Given the description of an element on the screen output the (x, y) to click on. 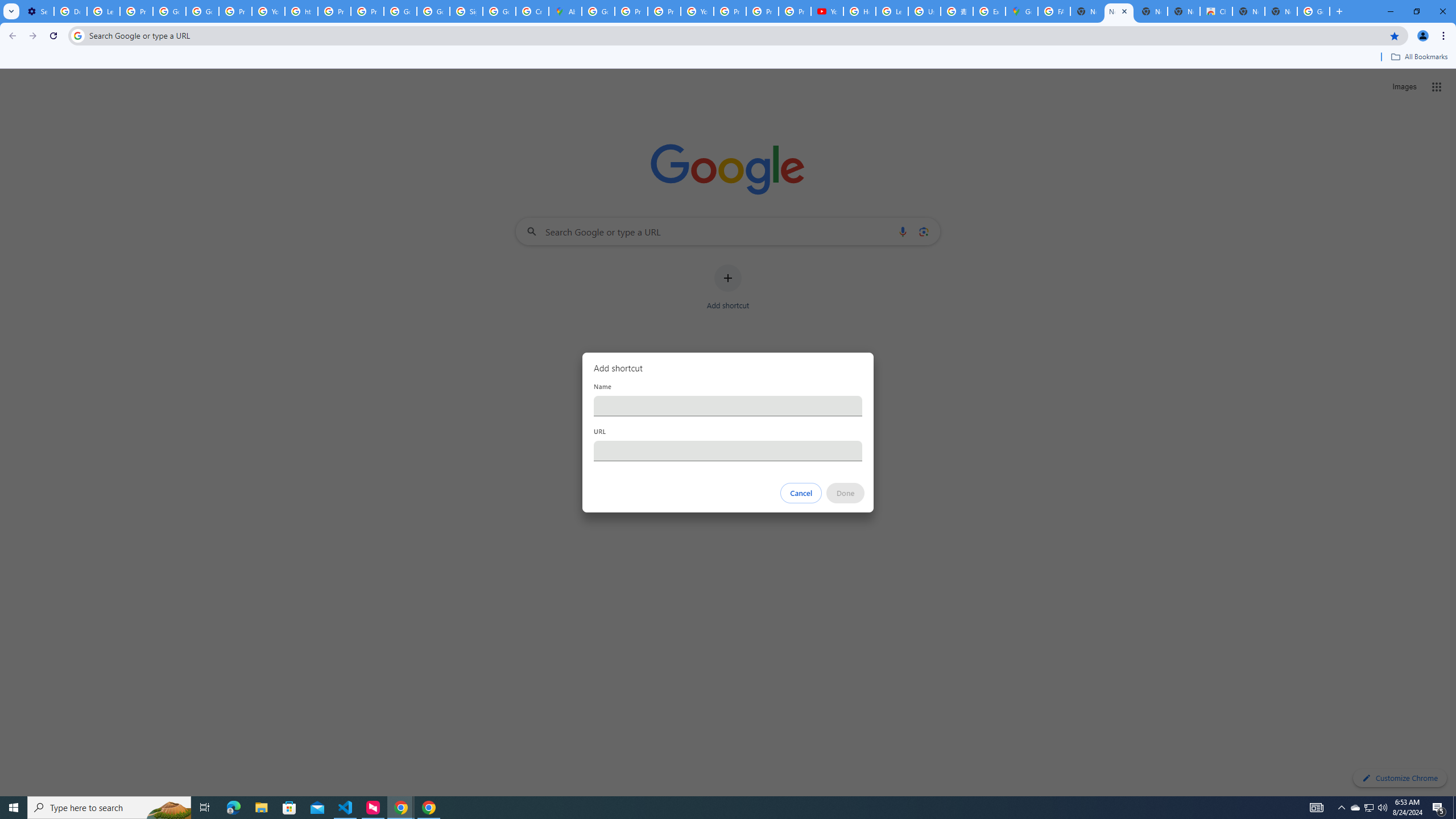
Privacy Help Center - Policies Help (334, 11)
How Chrome protects your passwords - Google Chrome Help (859, 11)
Google Maps (1021, 11)
YouTube (268, 11)
URL (727, 450)
Google Account Help (169, 11)
Done (845, 493)
Privacy Checkup (762, 11)
